Given the description of an element on the screen output the (x, y) to click on. 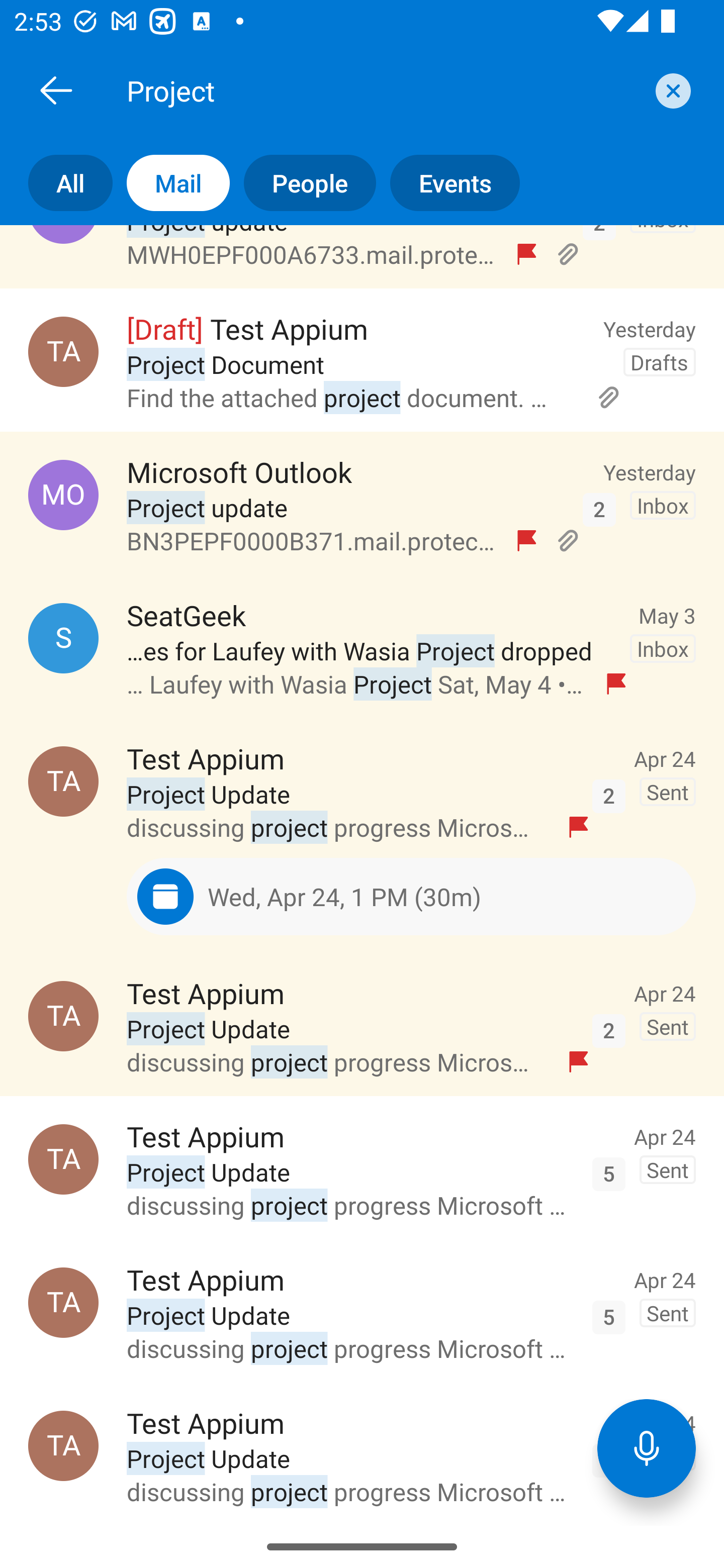
Back (55, 89)
Project (384, 89)
clear search (670, 90)
All (56, 183)
People (302, 183)
Events (447, 183)
Voice Assistant (646, 1447)
